Given the description of an element on the screen output the (x, y) to click on. 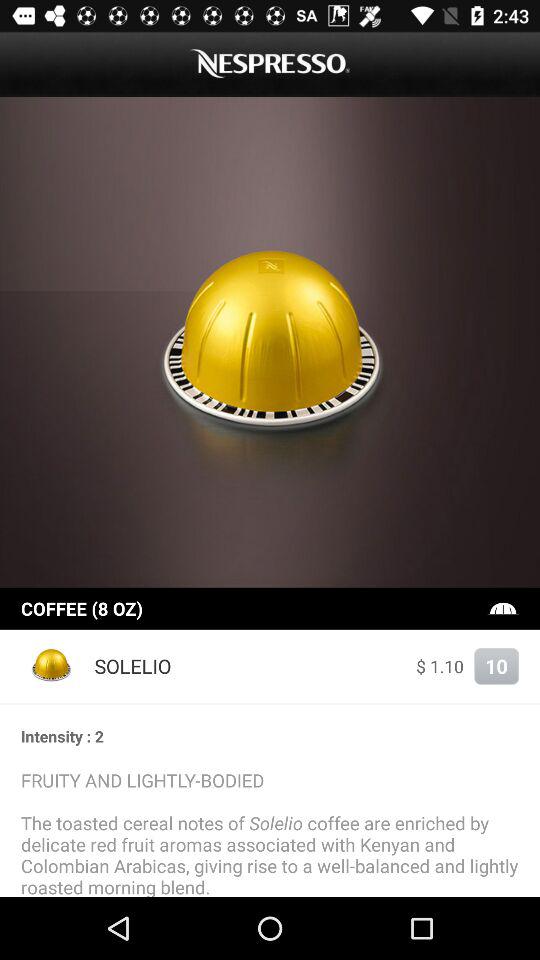
select the item at the bottom left corner (52, 665)
